Given the description of an element on the screen output the (x, y) to click on. 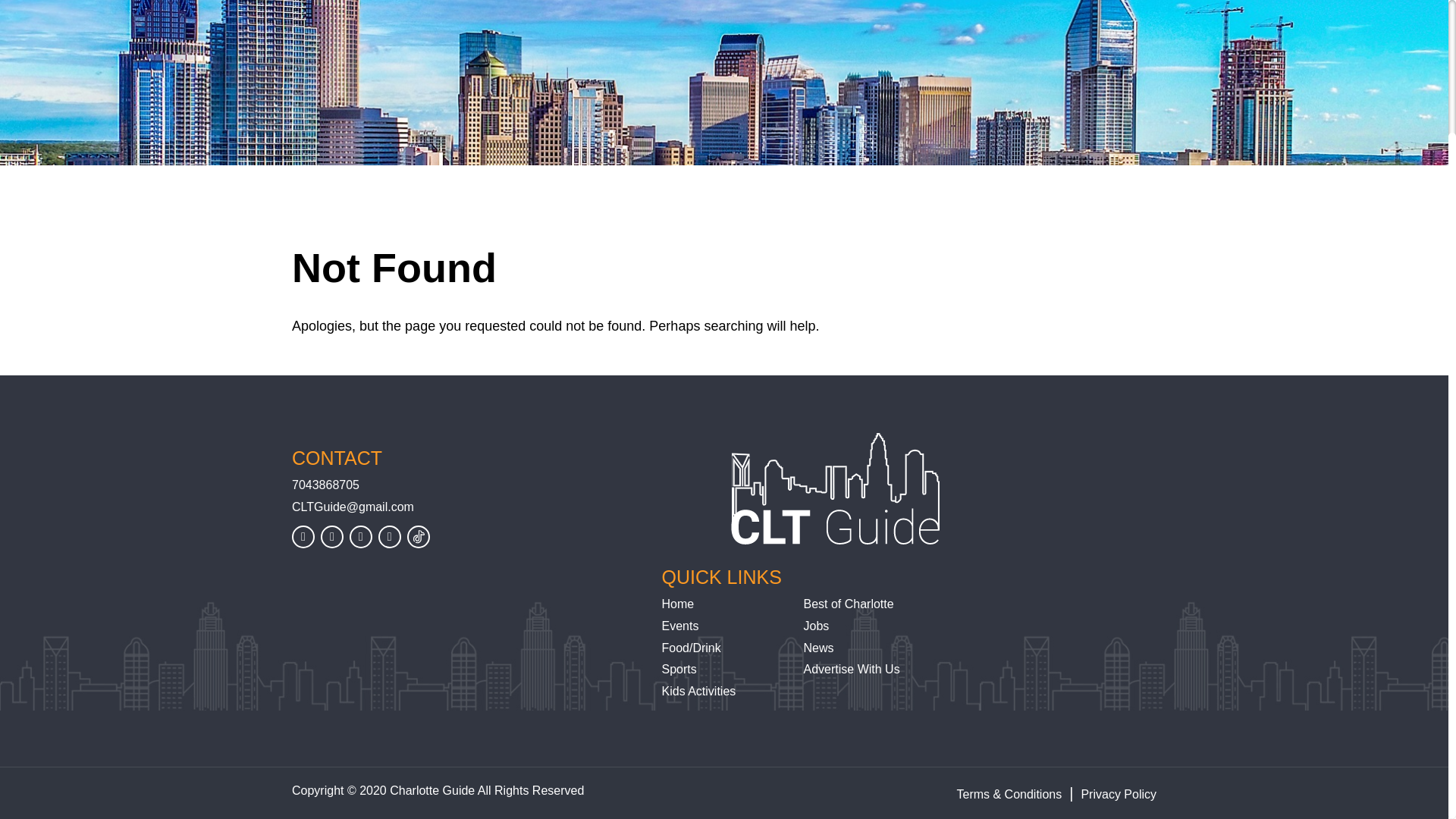
Events (679, 625)
Sports (678, 668)
News (817, 647)
Kids Activities (698, 690)
Advertise With Us (851, 668)
Home (677, 603)
7043868705 (465, 485)
Best of Charlotte (848, 603)
Jobs (815, 625)
Privacy Policy (1118, 793)
